Given the description of an element on the screen output the (x, y) to click on. 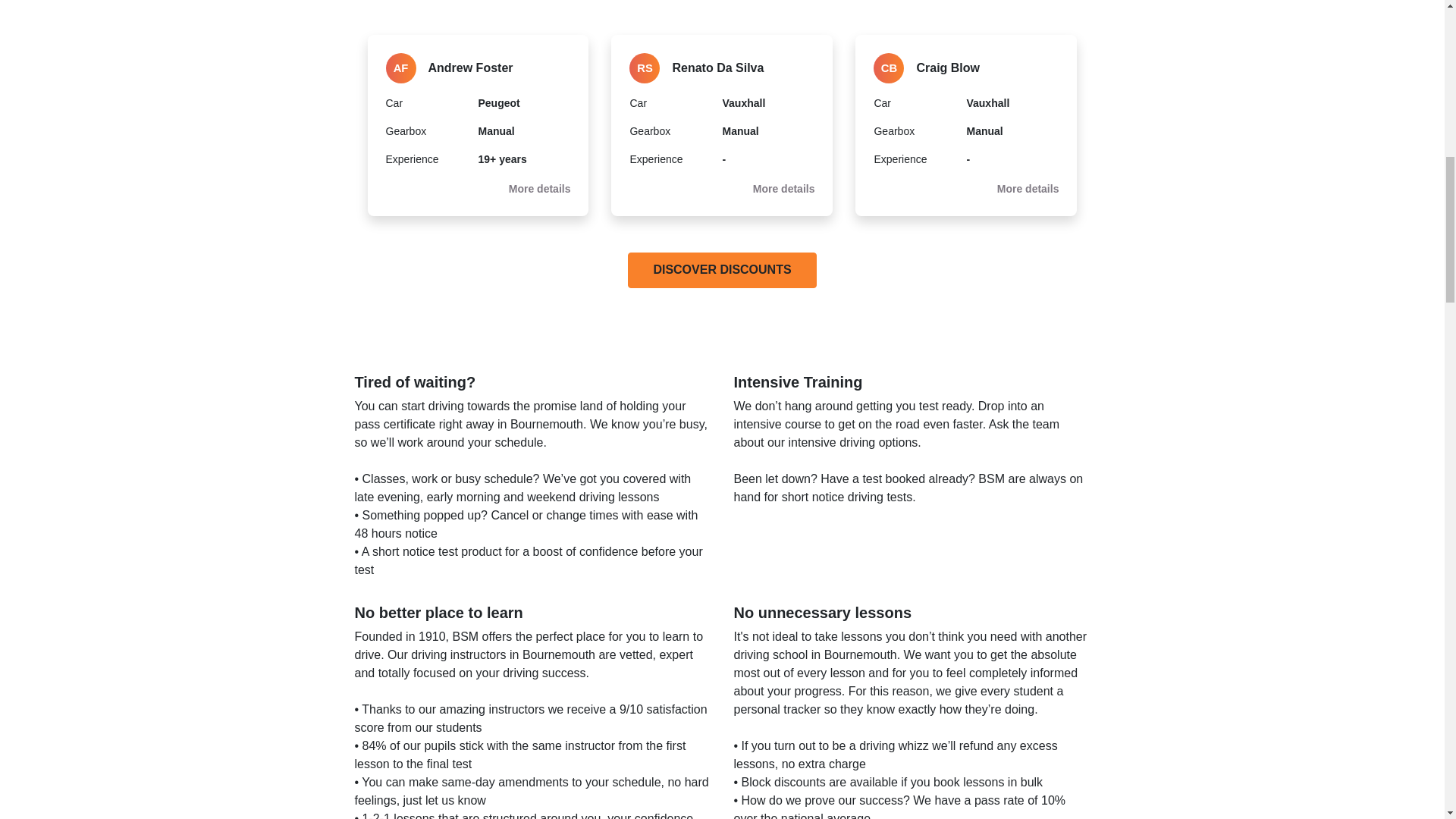
More details (539, 188)
DISCOVER DISCOUNTS (721, 270)
More details (1028, 188)
More details (783, 188)
